Given the description of an element on the screen output the (x, y) to click on. 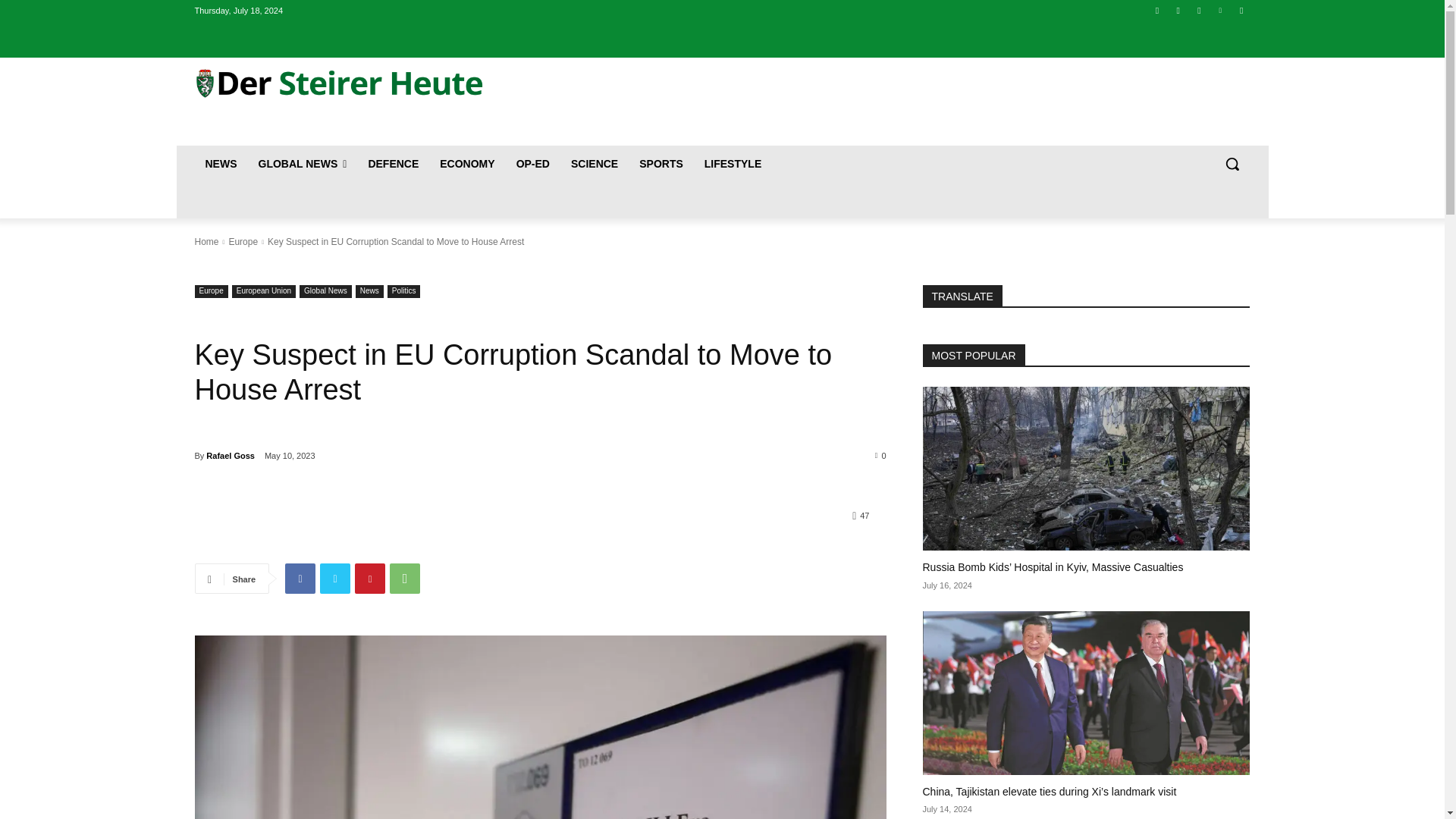
Twitter (335, 578)
WhatsApp (405, 578)
Twitter (1199, 9)
View all posts in Europe (242, 241)
Pinterest (370, 578)
Youtube (1241, 9)
Facebook (1157, 9)
Vimeo (1219, 9)
Europe Parliament Scandal (539, 727)
Facebook (300, 578)
Instagram (1177, 9)
